Given the description of an element on the screen output the (x, y) to click on. 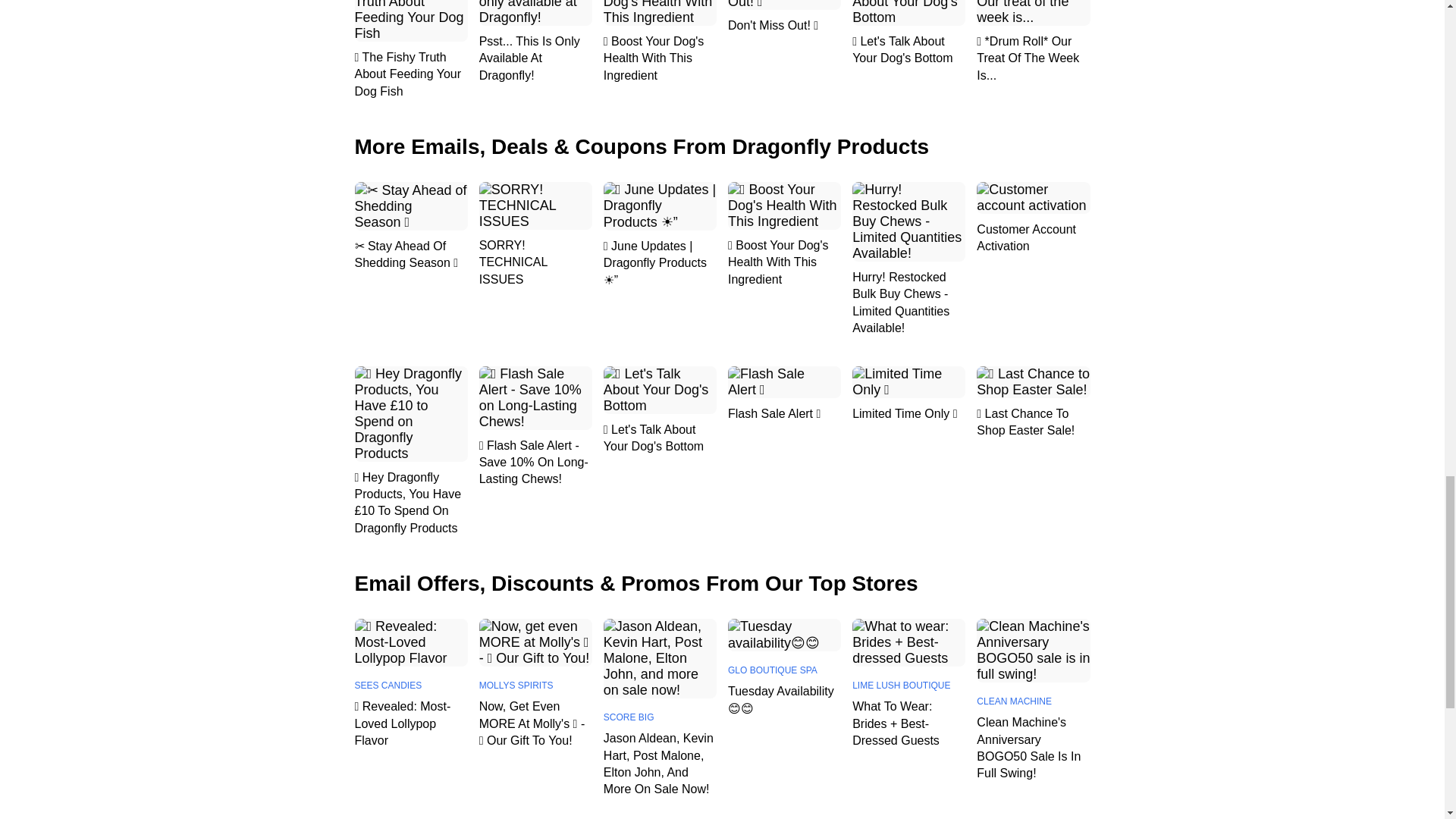
Customer Account Activation (1032, 238)
SEES CANDIES (411, 685)
Psst... This Is Only Available At Dragonfly! (535, 58)
SORRY! TECHNICAL ISSUES (535, 262)
